Given the description of an element on the screen output the (x, y) to click on. 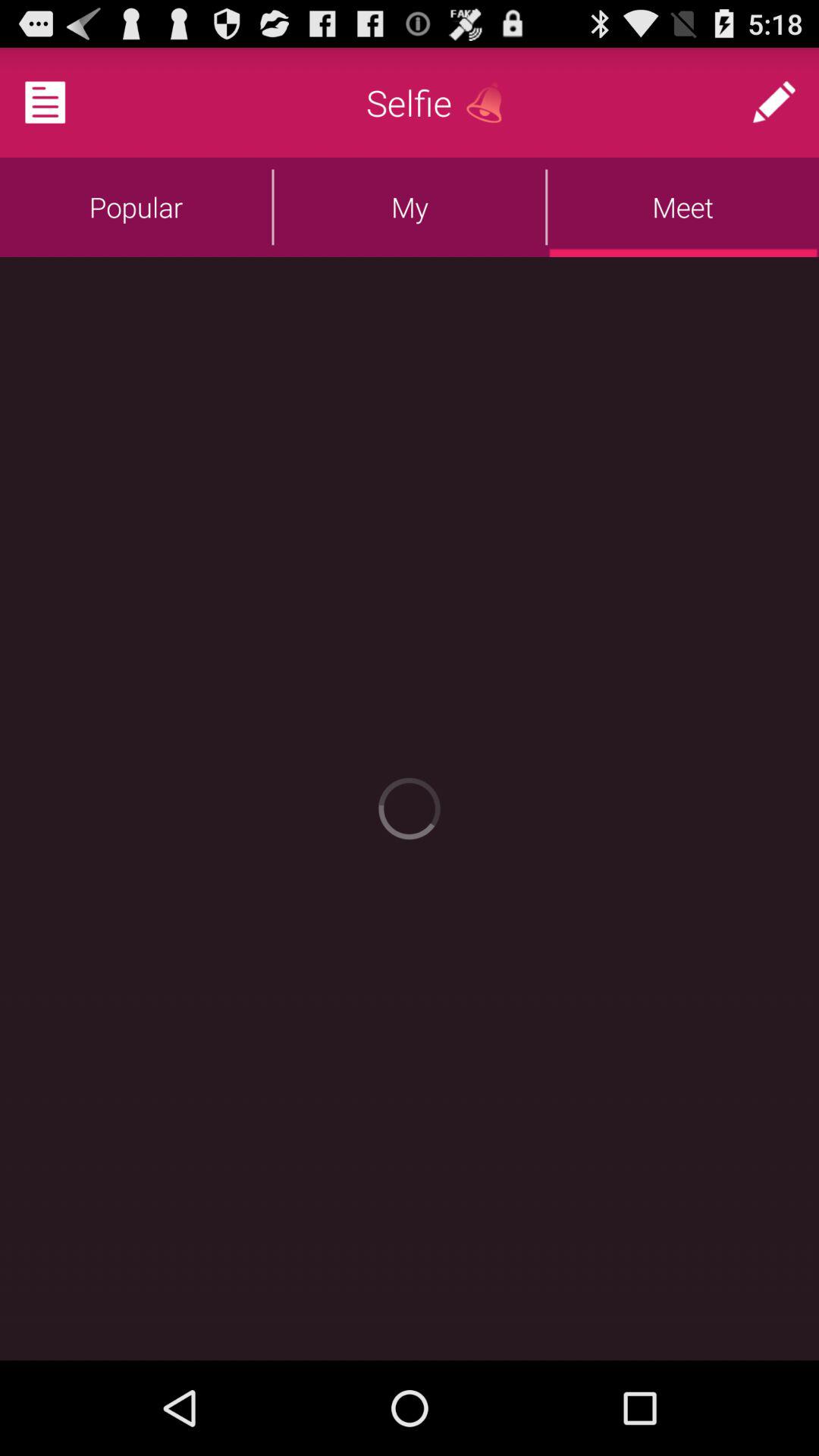
choose icon to the right of the selfie (489, 102)
